Given the description of an element on the screen output the (x, y) to click on. 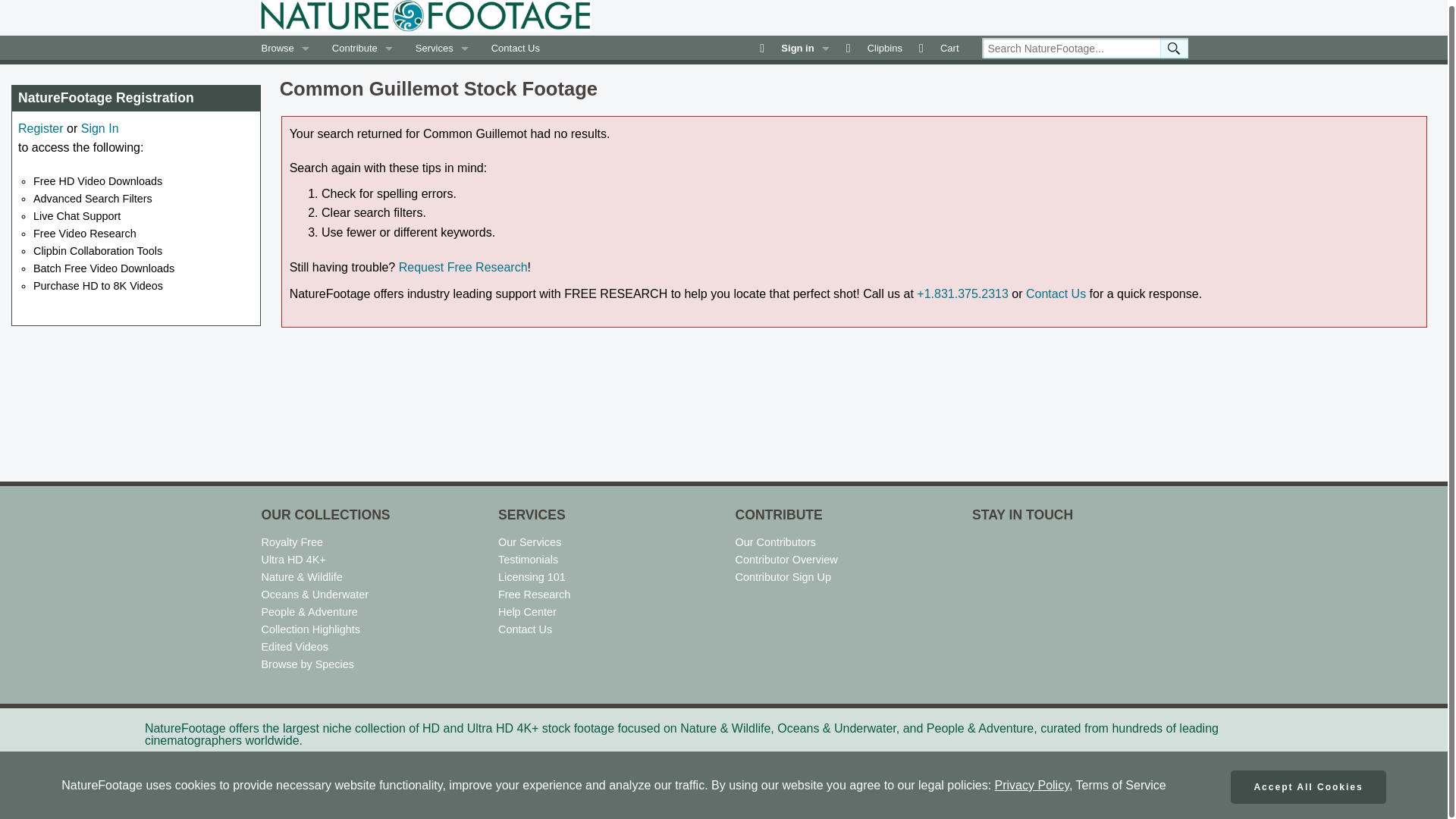
Services (442, 47)
Royalty Free (291, 541)
Contact Us (1056, 293)
Sign in (797, 47)
Request Free Research (462, 267)
Contribute (362, 47)
Cart (942, 47)
Clipbins (877, 47)
Contact Us (515, 47)
NatureFootage (425, 15)
Sign In (100, 128)
Browse (285, 47)
Register (40, 128)
